Given the description of an element on the screen output the (x, y) to click on. 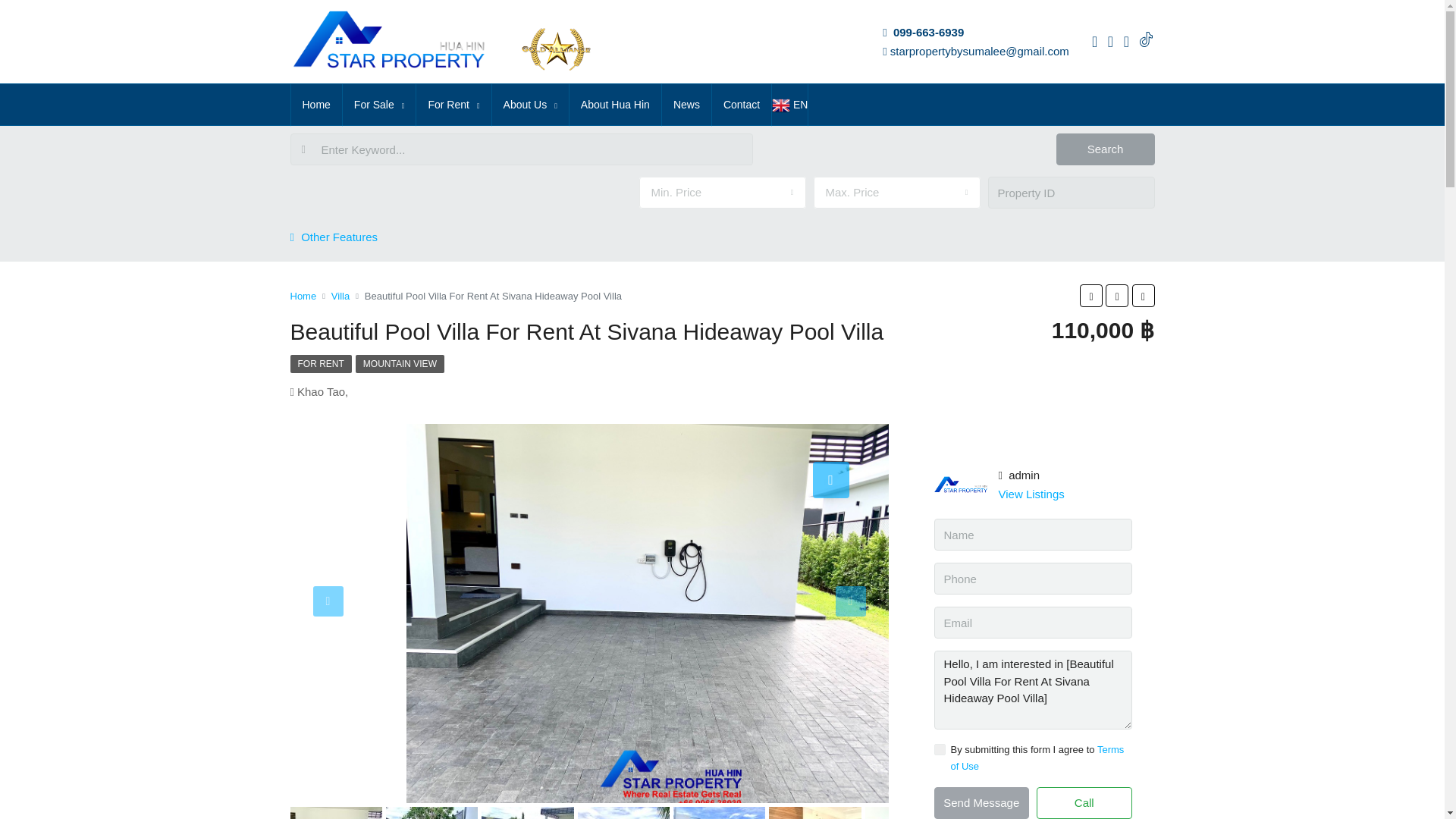
Min. Price (722, 192)
099-663-6939 (928, 31)
Max. Price (895, 192)
Home (316, 104)
For Sale (379, 105)
